Given the description of an element on the screen output the (x, y) to click on. 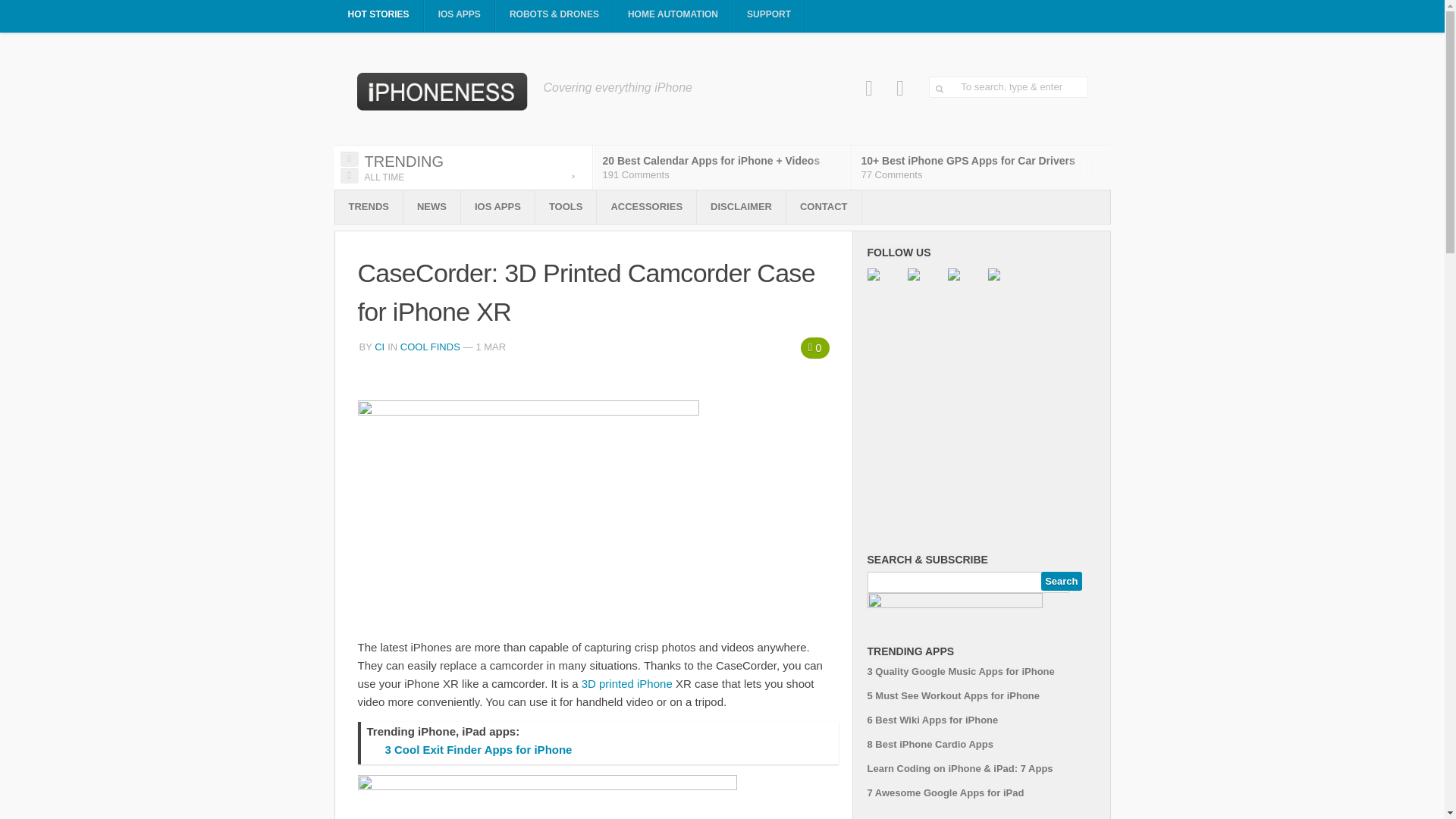
IOS APPS (460, 16)
TRENDS (368, 206)
NEWS (431, 206)
HOT STORIES (377, 16)
Pinterest (900, 87)
Facebook (869, 87)
HOME AUTOMATION (673, 16)
SUPPORT (769, 16)
Search (1061, 580)
